Given the description of an element on the screen output the (x, y) to click on. 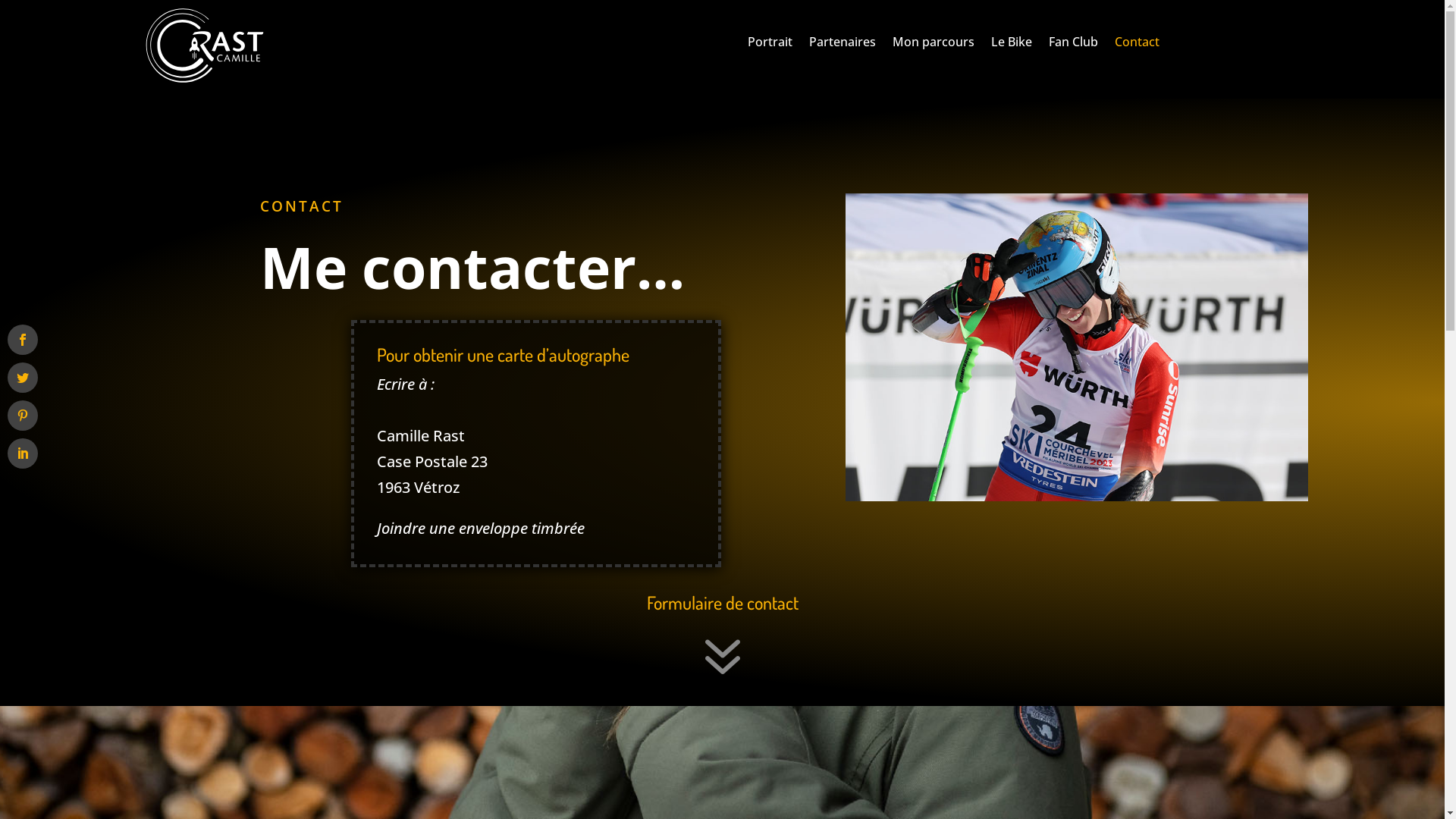
CR_logo_BLANC Element type: hover (204, 45)
Contact Element type: text (1136, 44)
Portrait Element type: text (769, 44)
Fan Club Element type: text (1073, 44)
Camille Rast - meribel 2023-contact Element type: hover (1076, 347)
7 Element type: text (721, 681)
Partenaires Element type: text (842, 44)
Mon parcours Element type: text (933, 44)
Le Bike Element type: text (1011, 44)
